Given the description of an element on the screen output the (x, y) to click on. 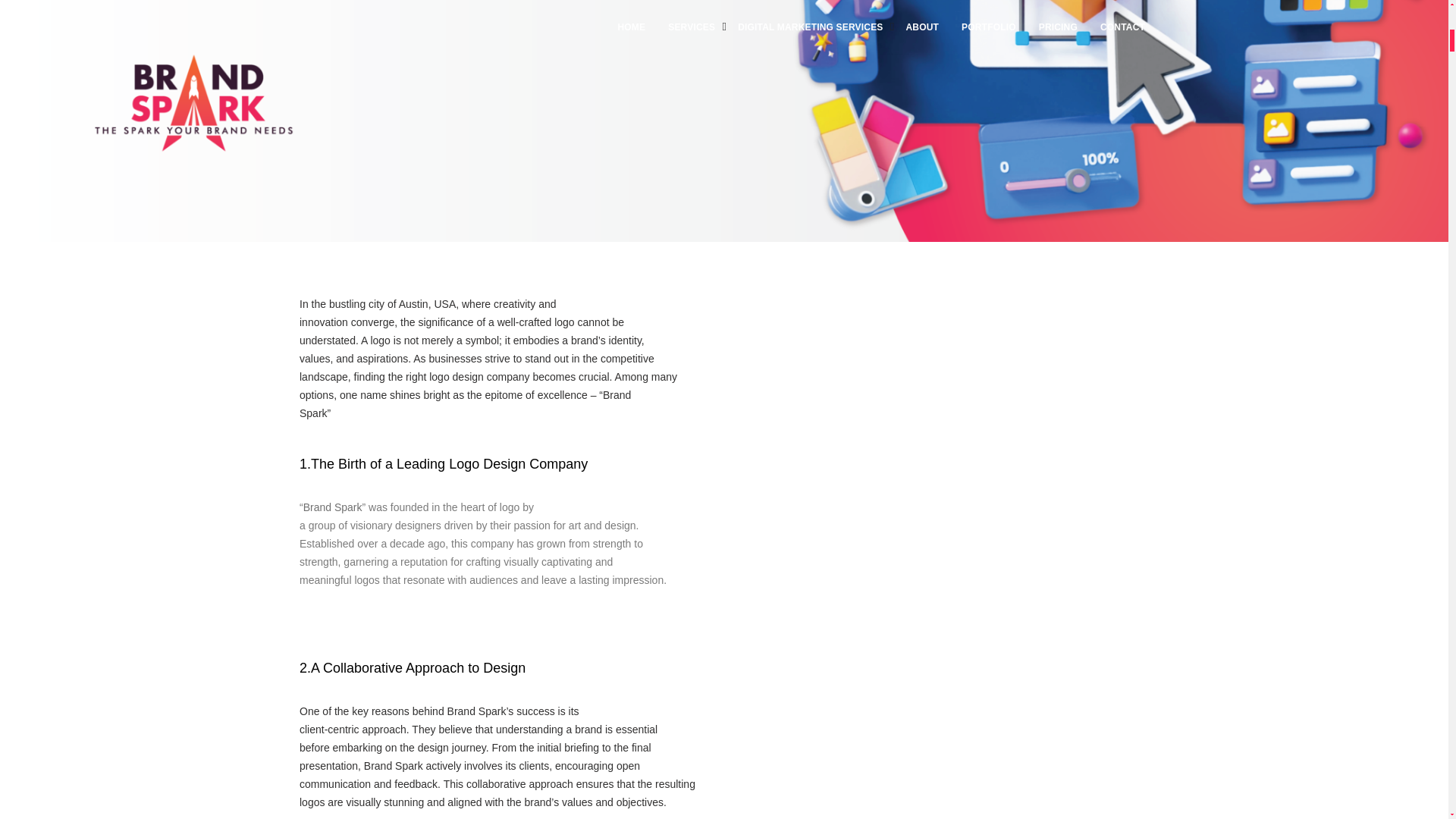
Brand Spark (332, 507)
